Given the description of an element on the screen output the (x, y) to click on. 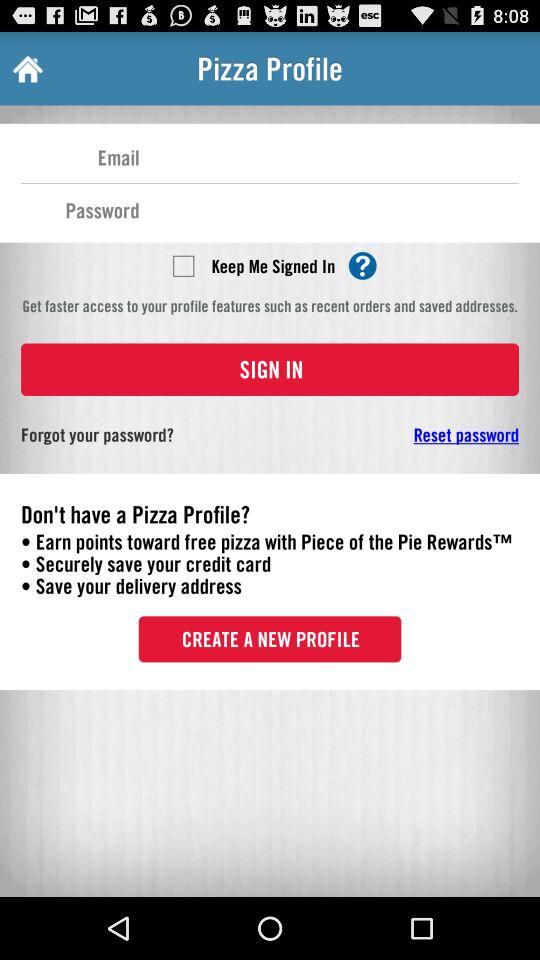
open icon below the earn points toward icon (269, 639)
